Given the description of an element on the screen output the (x, y) to click on. 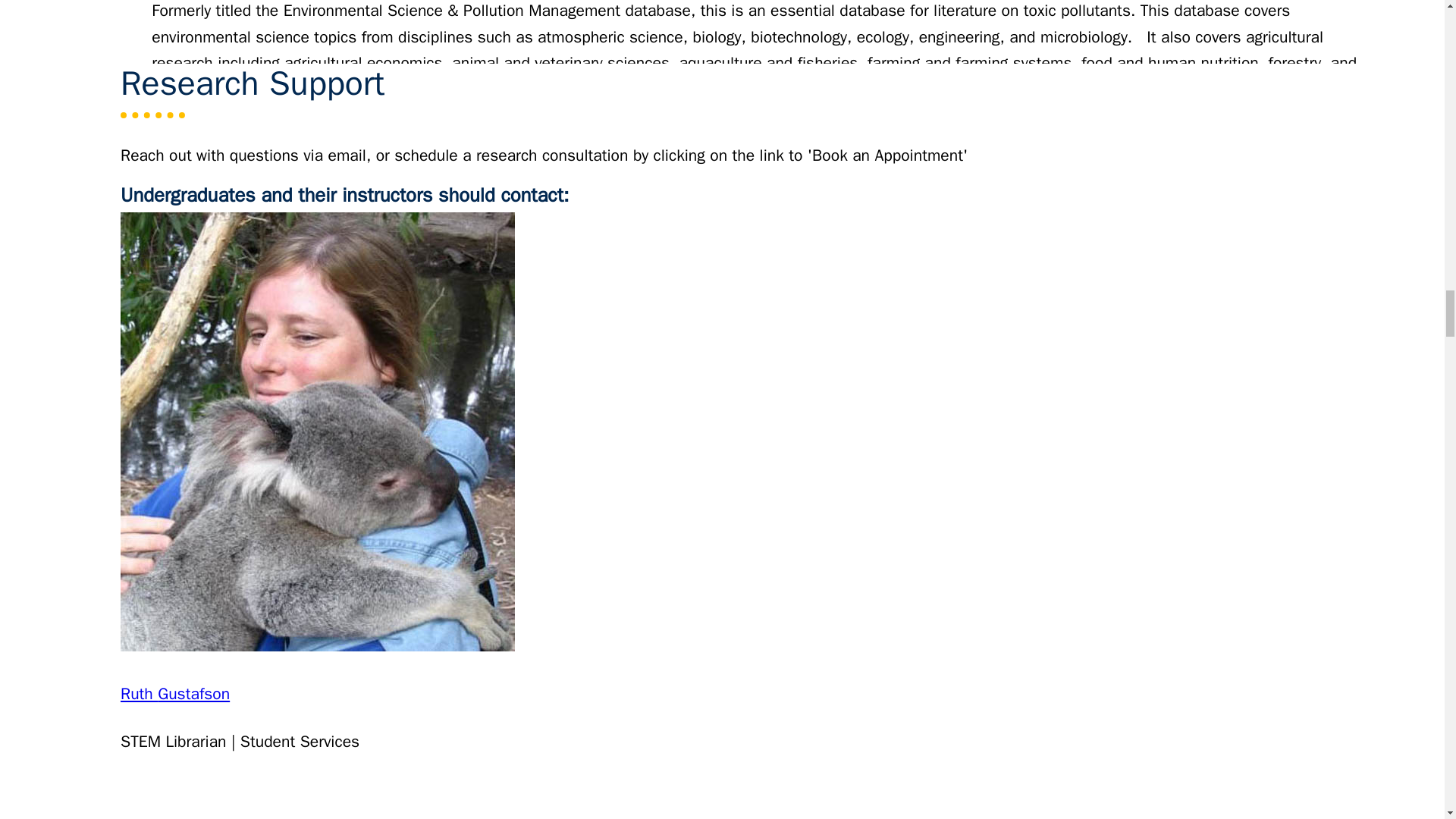
This link opens in a new window (219, 396)
This link opens in a new window (274, 192)
This link opens in a new window (266, 396)
